Given the description of an element on the screen output the (x, y) to click on. 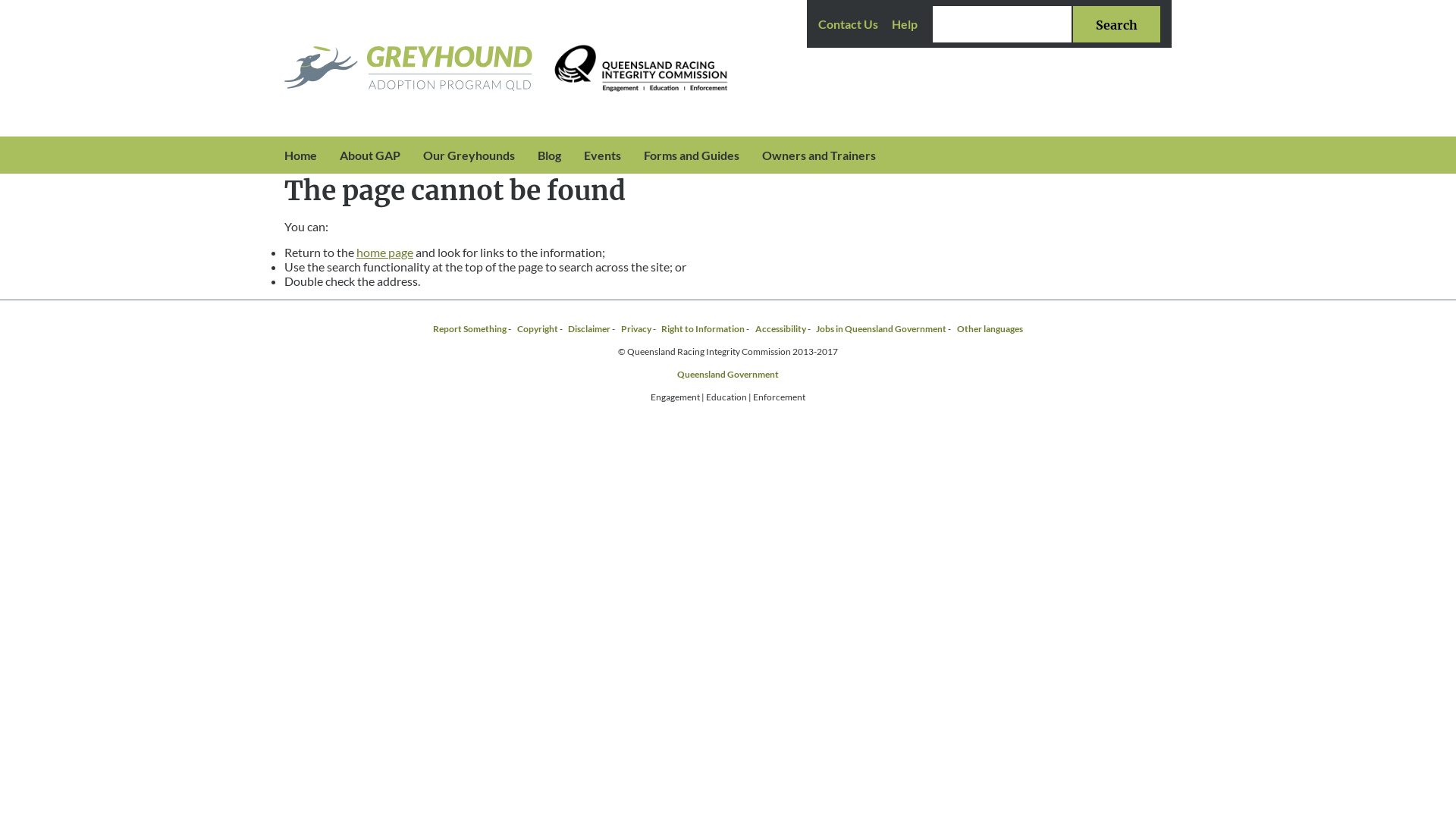
Owners and Trainers Element type: text (818, 154)
Right to Information Element type: text (702, 328)
Accessibility Element type: text (780, 328)
Report Something Element type: text (469, 328)
Disclaimer Element type: text (588, 328)
home page Element type: text (384, 251)
Search Element type: text (1116, 24)
Blog Element type: text (549, 154)
Queensland Government Element type: text (727, 373)
About GAP Element type: text (369, 154)
Help Element type: text (904, 23)
Privacy Element type: text (636, 328)
Events Element type: text (602, 154)
Other languages Element type: text (989, 328)
Jobs in Queensland Government Element type: text (880, 328)
Our Greyhounds Element type: text (468, 154)
Forms and Guides Element type: text (691, 154)
Home Element type: text (300, 154)
Contact Us Element type: text (848, 23)
Copyright Element type: text (537, 328)
